Given the description of an element on the screen output the (x, y) to click on. 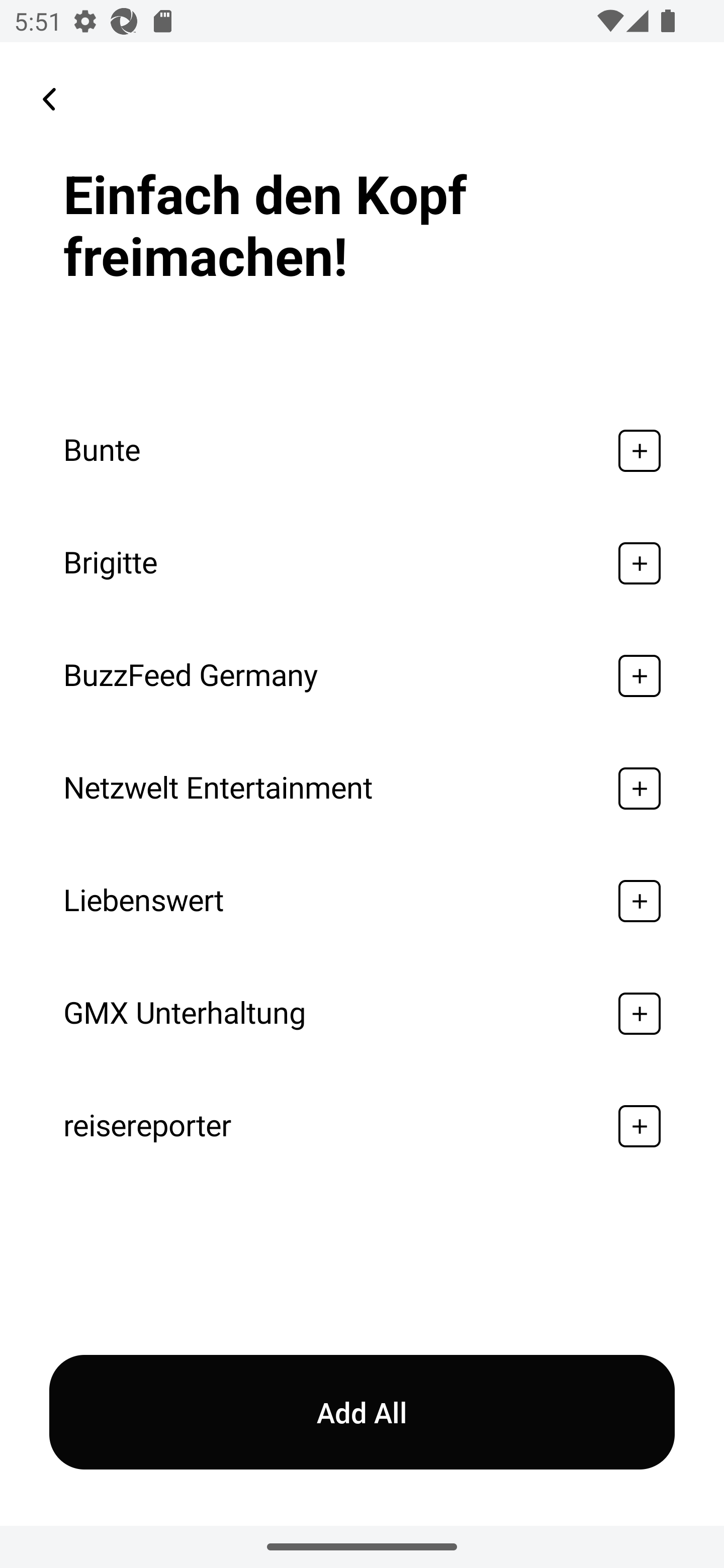
Leading Icon (49, 98)
Bunte Add To My Bundle (361, 450)
Add To My Bundle (639, 450)
Brigitte Add To My Bundle (361, 562)
Add To My Bundle (639, 562)
BuzzFeed Germany Add To My Bundle (361, 675)
Add To My Bundle (639, 675)
Netzwelt Entertainment Add To My Bundle (361, 788)
Add To My Bundle (639, 788)
Liebenswert Add To My Bundle (361, 901)
Add To My Bundle (639, 901)
GMX Unterhaltung Add To My Bundle (361, 1013)
Add To My Bundle (639, 1013)
reisereporter Add To My Bundle (361, 1125)
Add To My Bundle (639, 1125)
Add All (361, 1411)
